Given the description of an element on the screen output the (x, y) to click on. 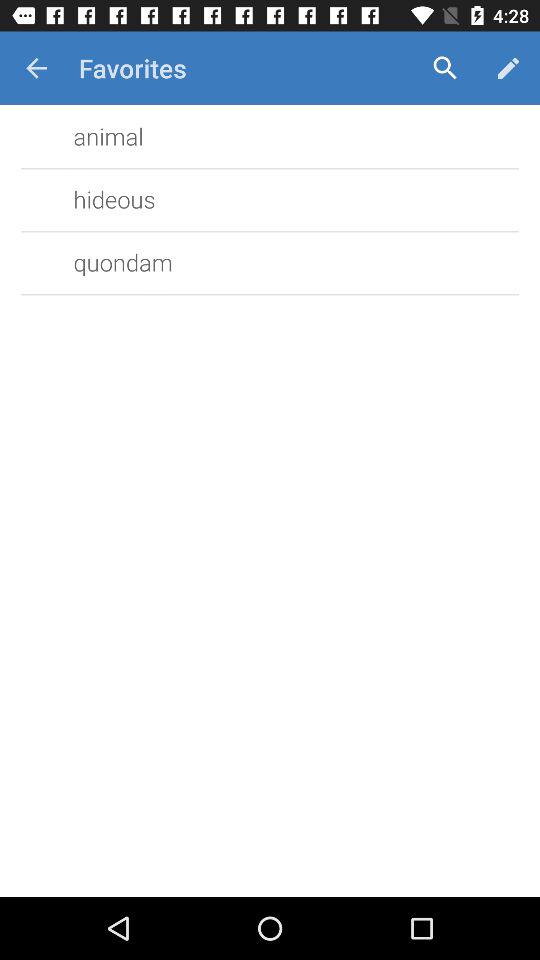
select icon above animal icon (36, 68)
